Given the description of an element on the screen output the (x, y) to click on. 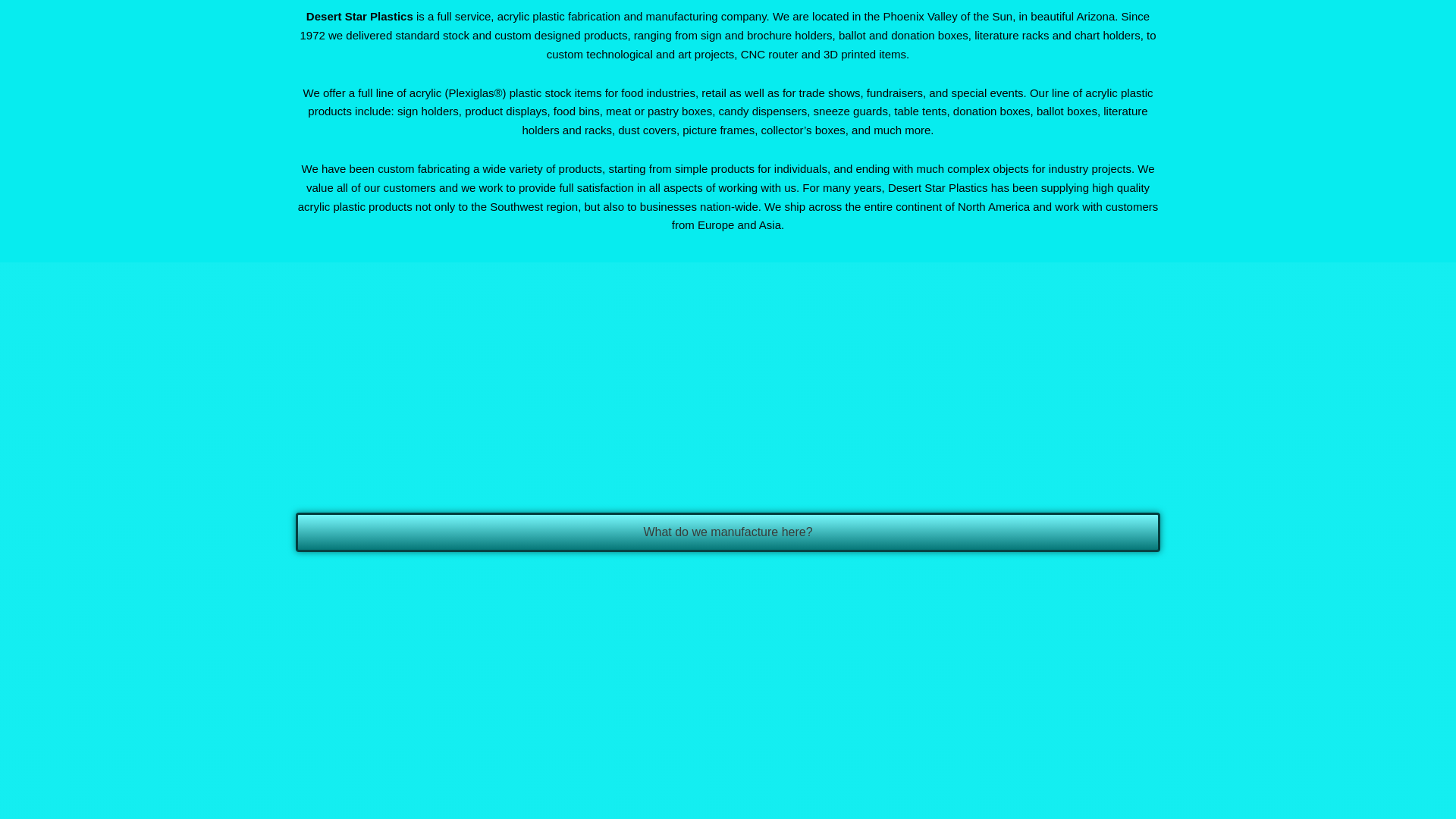
What do we manufacture here? (727, 532)
